Given the description of an element on the screen output the (x, y) to click on. 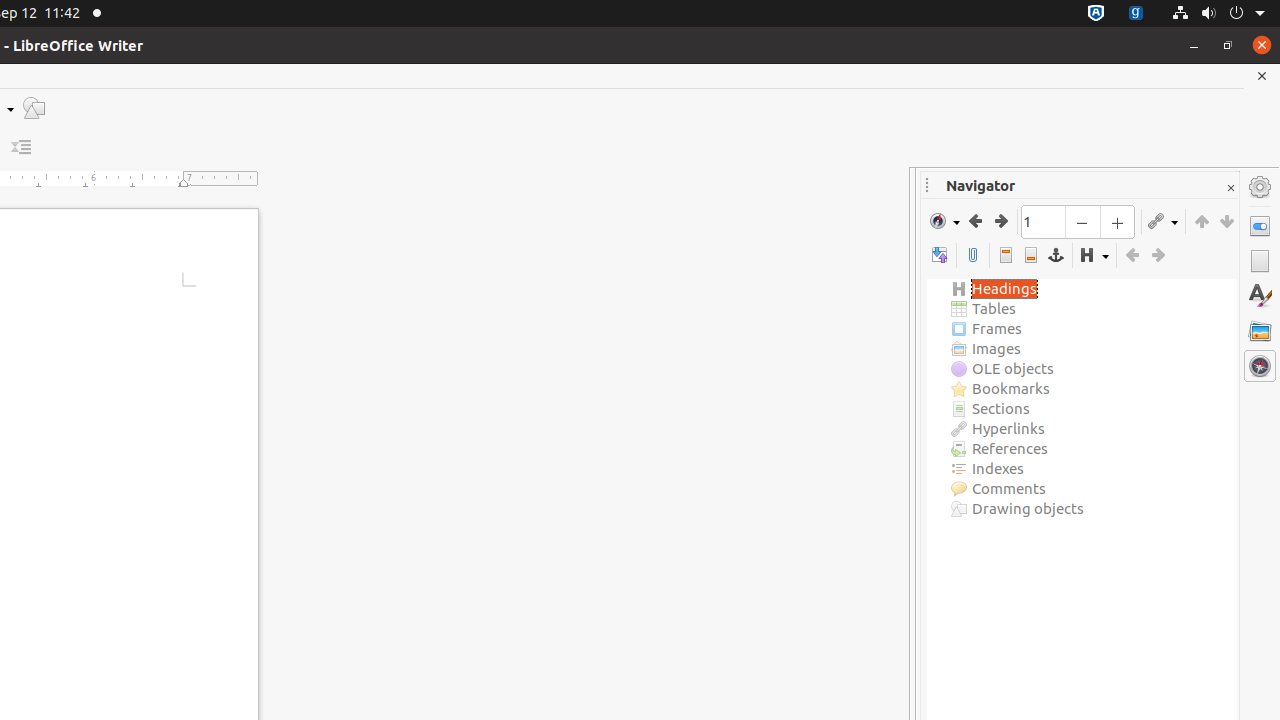
Anchor<->Text Element type: push-button (1055, 255)
Decrease Element type: push-button (21, 147)
Promote Level Element type: push-button (1132, 255)
Content Navigation View Element type: push-button (939, 255)
Promote Chapter Element type: push-button (1201, 221)
